Given the description of an element on the screen output the (x, y) to click on. 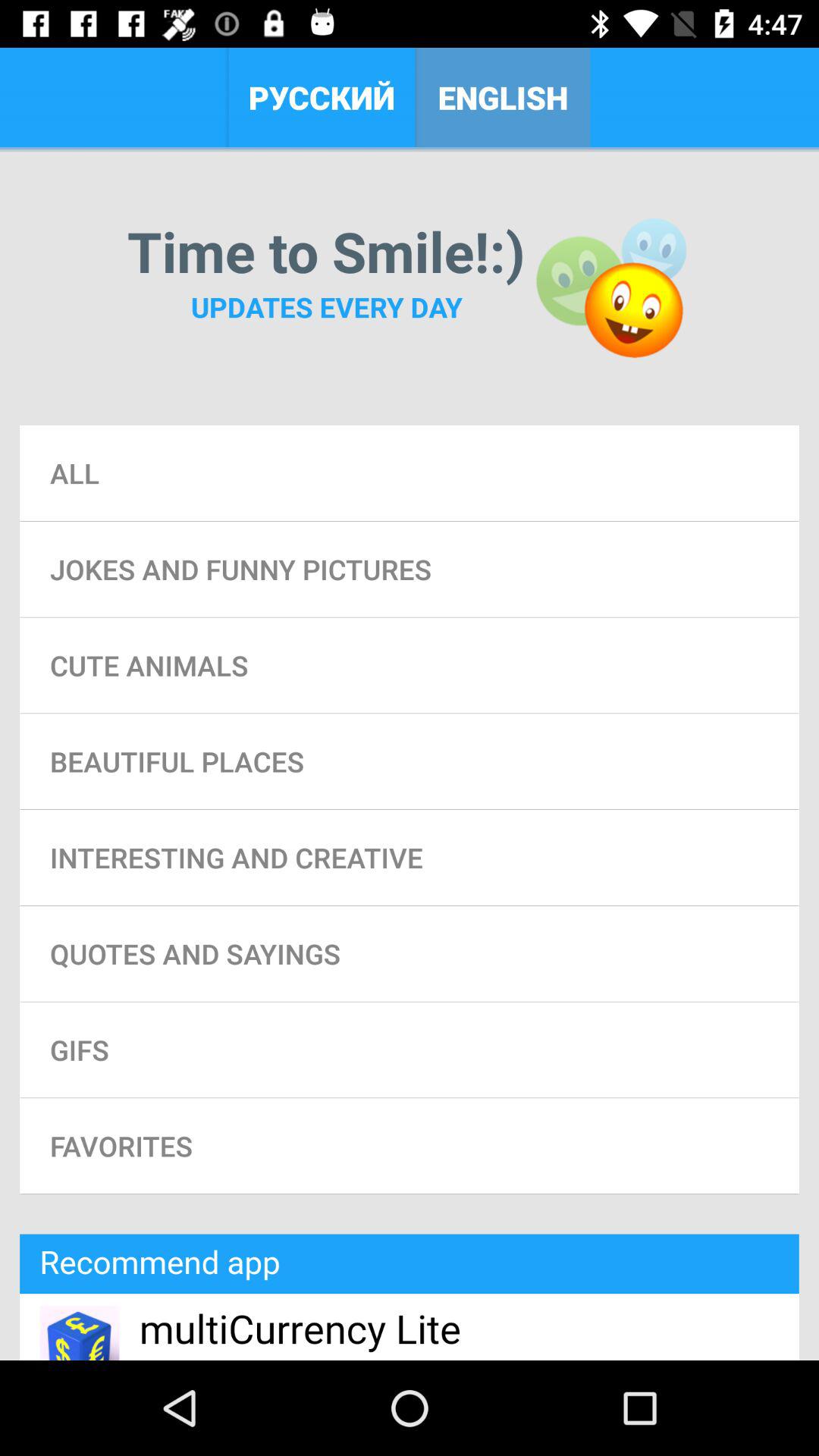
swipe until the cute animals item (409, 665)
